Given the description of an element on the screen output the (x, y) to click on. 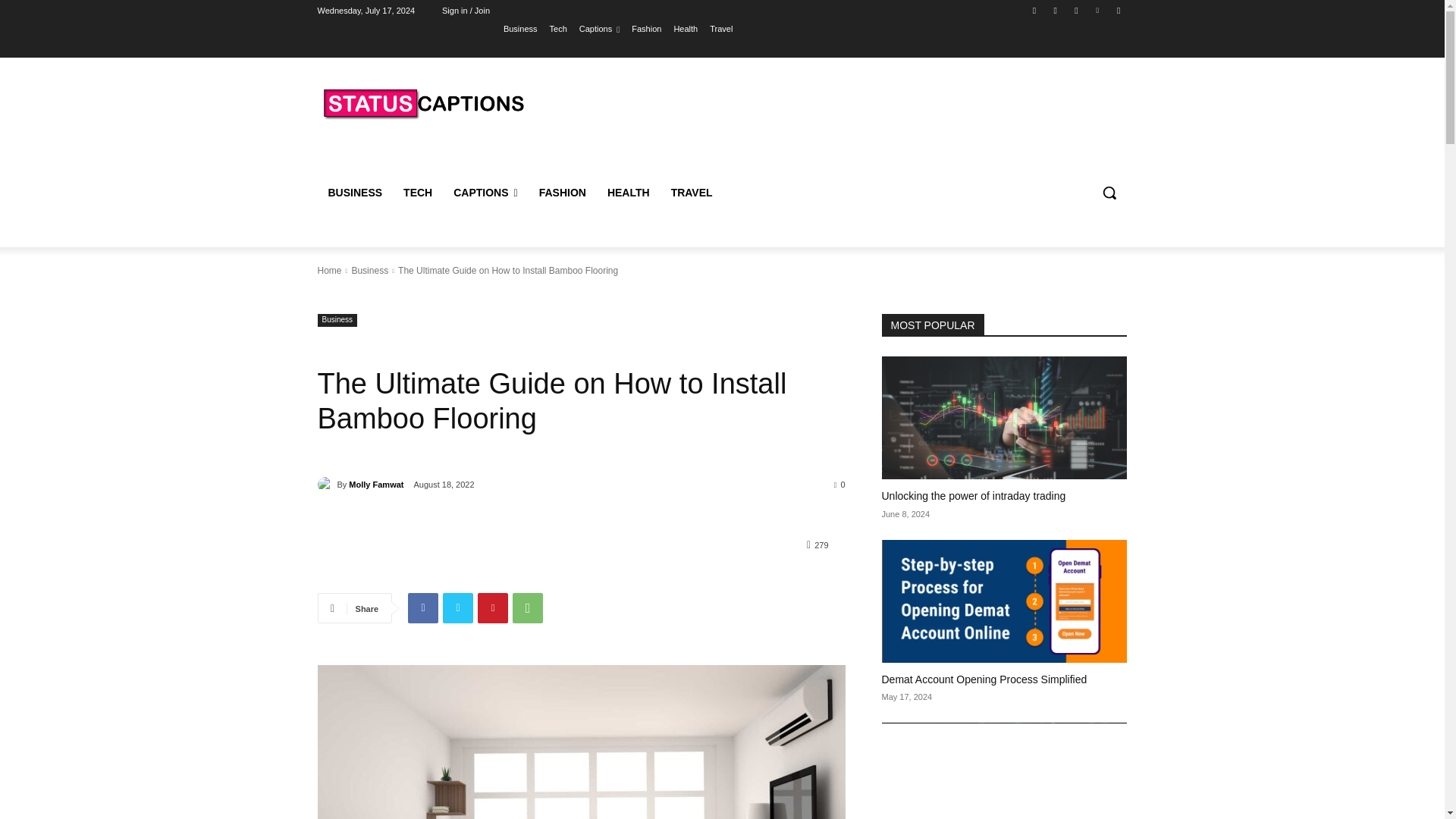
Business (520, 28)
Travel (721, 28)
Vimeo (1097, 9)
Captions (599, 28)
TECH (417, 192)
Youtube (1117, 9)
Instagram (1055, 9)
TRAVEL (692, 192)
Twitter (457, 607)
Facebook (1034, 9)
Facebook (422, 607)
Twitter (1075, 9)
HEALTH (628, 192)
FASHION (562, 192)
Health (684, 28)
